Given the description of an element on the screen output the (x, y) to click on. 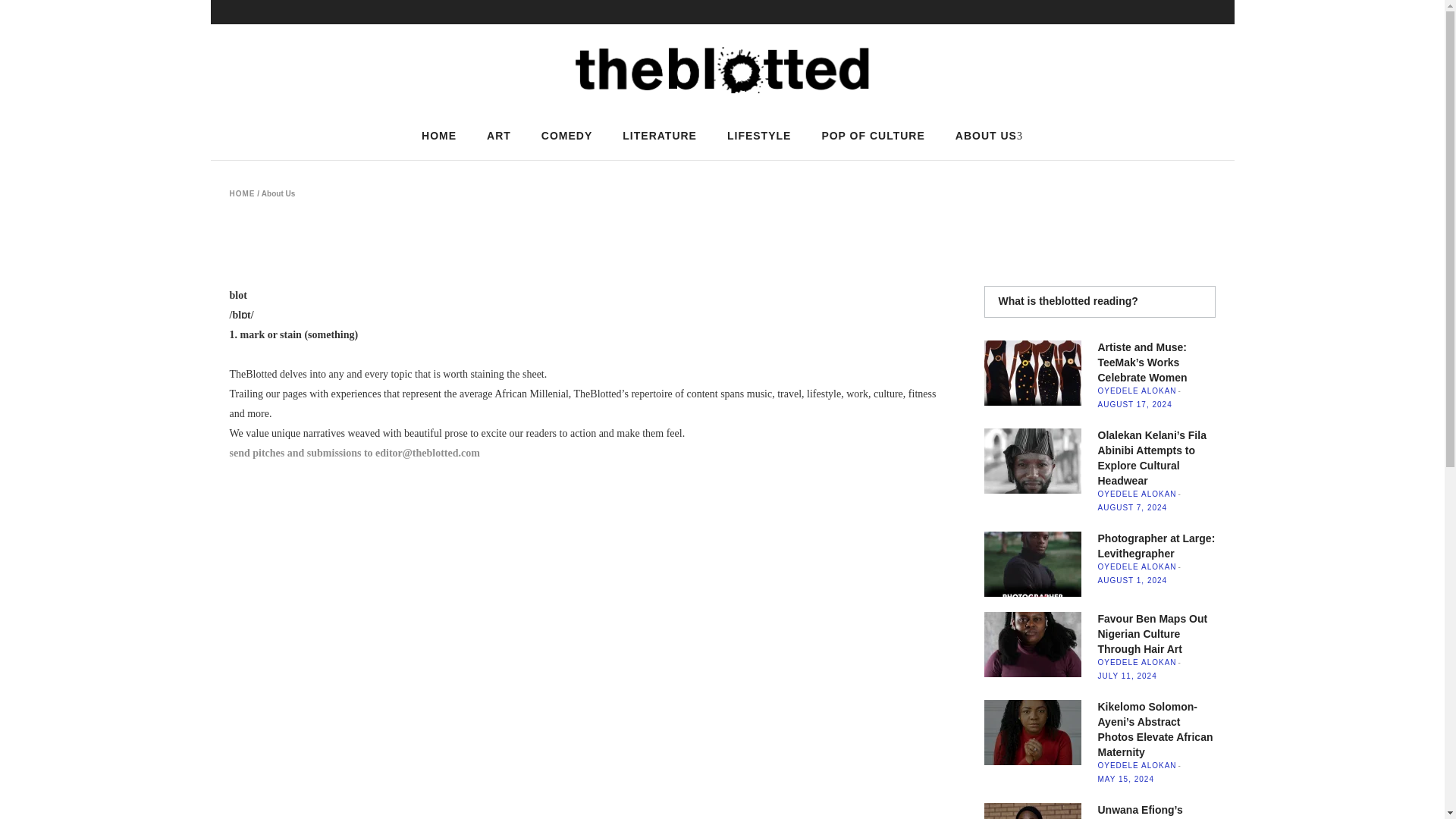
HOME (438, 135)
COMEDY (566, 135)
HOME (241, 194)
AUGUST 17, 2024 (1134, 404)
OYEDELE ALOKAN (1136, 493)
ABOUT US (989, 135)
LITERATURE (659, 135)
ART (498, 135)
LIFESTYLE (758, 135)
POP OF CULTURE (872, 135)
